Given the description of an element on the screen output the (x, y) to click on. 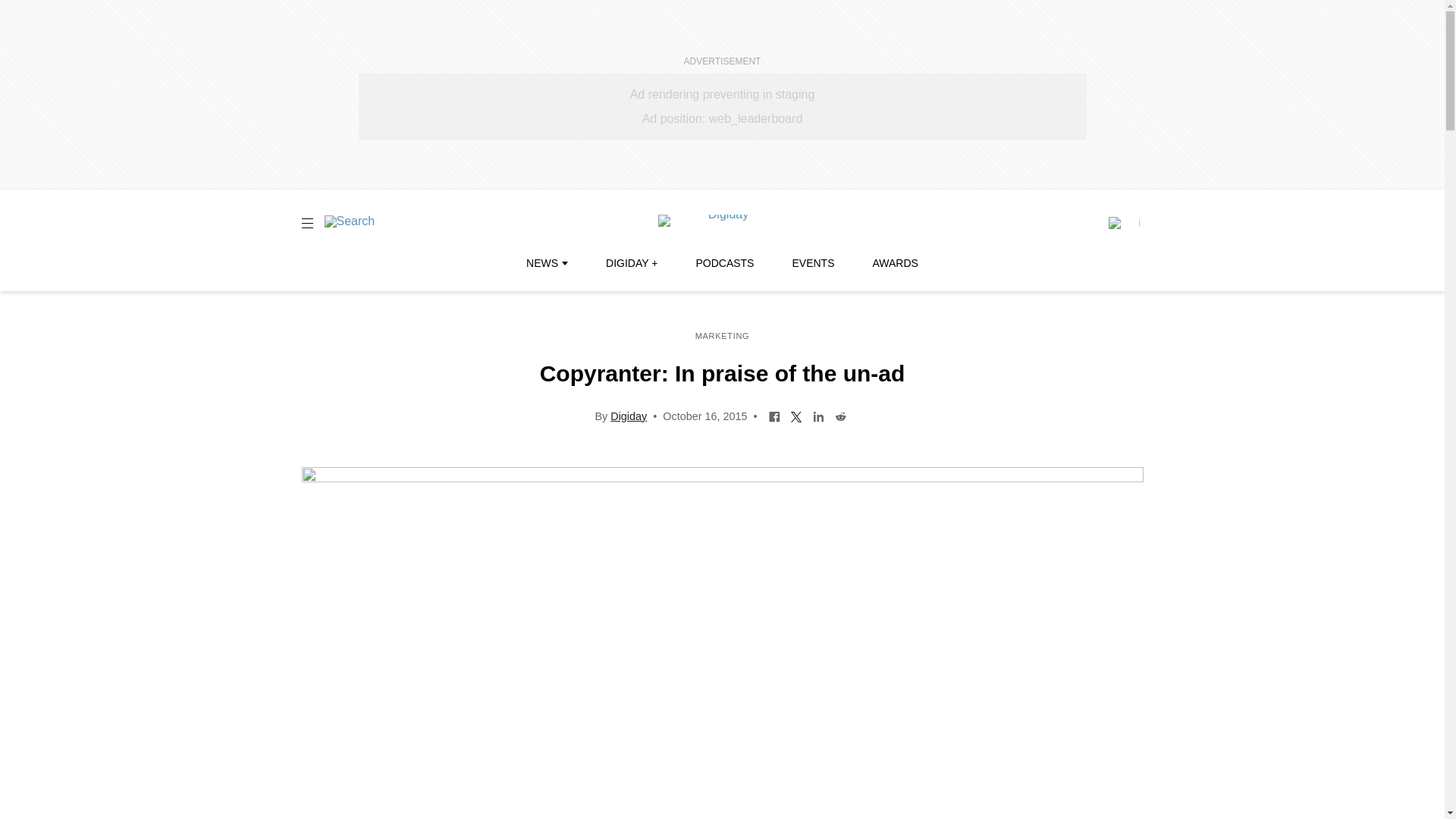
Share on Facebook (774, 415)
PODCASTS (725, 262)
Share on Twitter (796, 415)
Subscribe (1123, 223)
Share on LinkedIn (818, 415)
AWARDS (894, 262)
NEWS (546, 262)
Share on Reddit (840, 415)
EVENTS (813, 262)
